Given the description of an element on the screen output the (x, y) to click on. 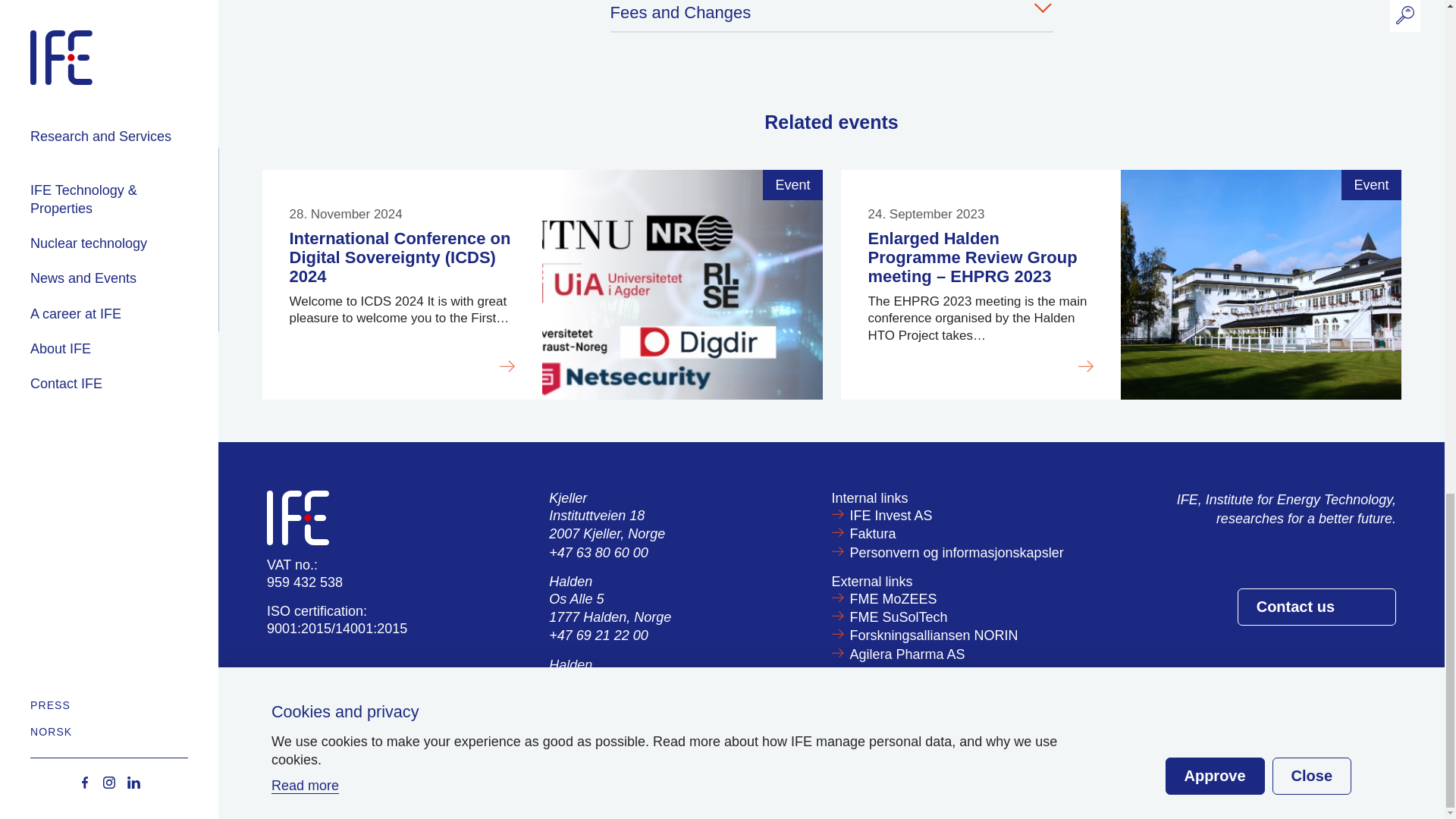
Go to Front Page (297, 516)
